Given the description of an element on the screen output the (x, y) to click on. 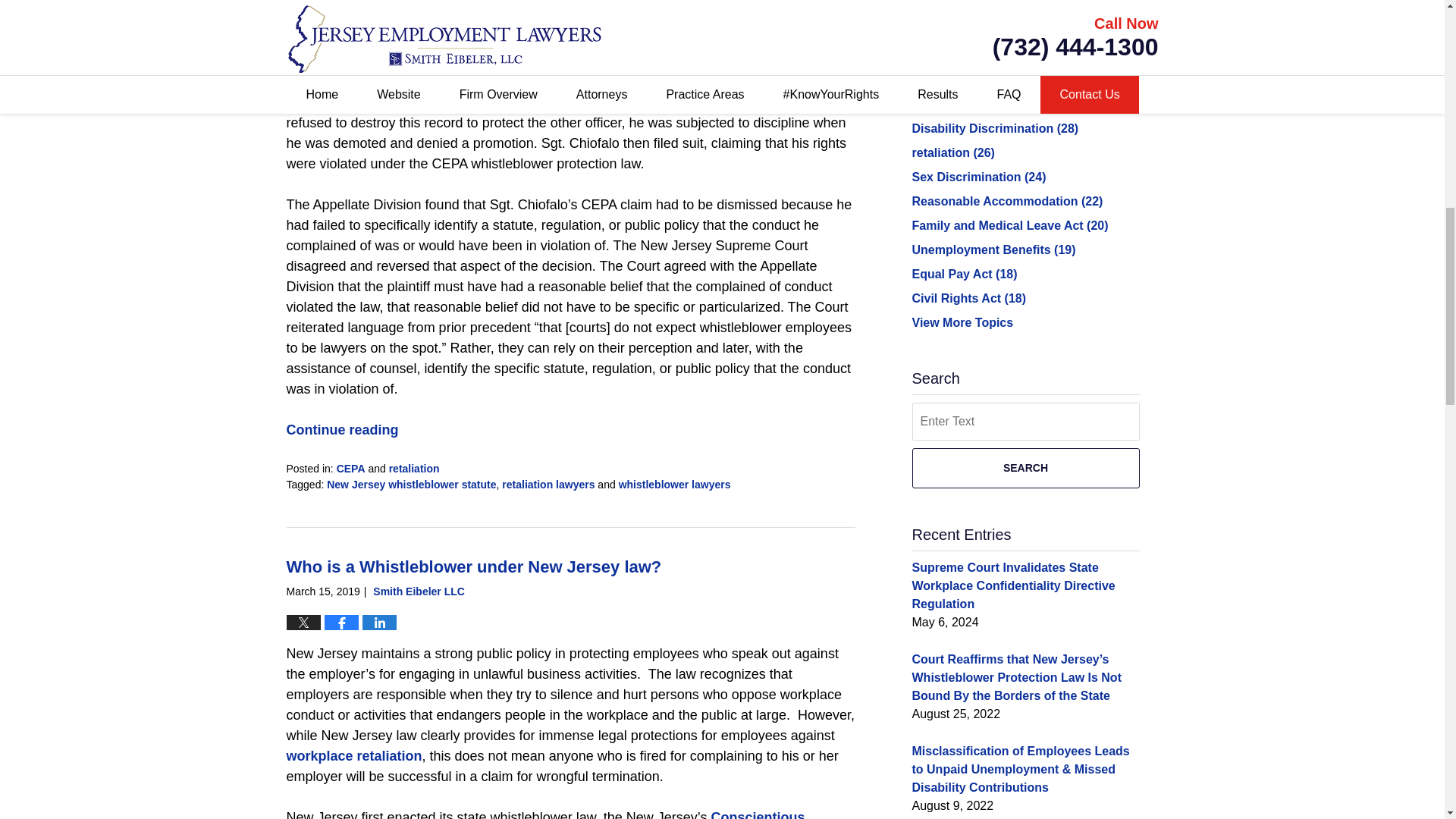
View all posts in CEPA (350, 468)
View all posts tagged with New Jersey whistleblower statute (411, 484)
View all posts in retaliation (413, 468)
View all posts tagged with retaliation lawyers (548, 484)
Permalink to Who is a Whistleblower under New Jersey law? (474, 566)
View all posts tagged with whistleblower lawyers (674, 484)
Continue reading (342, 429)
